Given the description of an element on the screen output the (x, y) to click on. 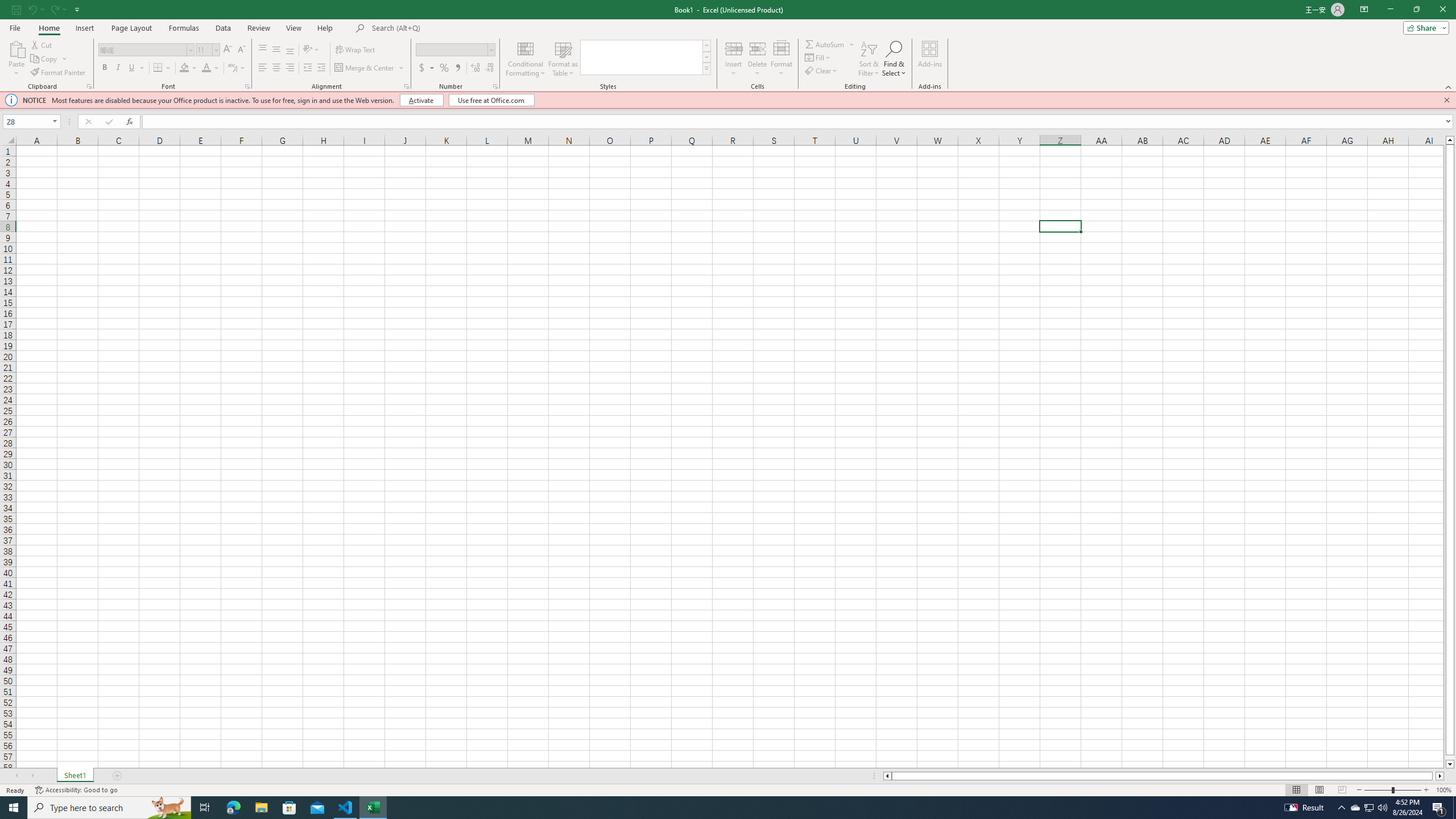
Comma Style (457, 67)
Format Cell Number (494, 85)
Format Cell Alignment (405, 85)
Sort & Filter (868, 58)
Office Clipboard... (88, 85)
